Given the description of an element on the screen output the (x, y) to click on. 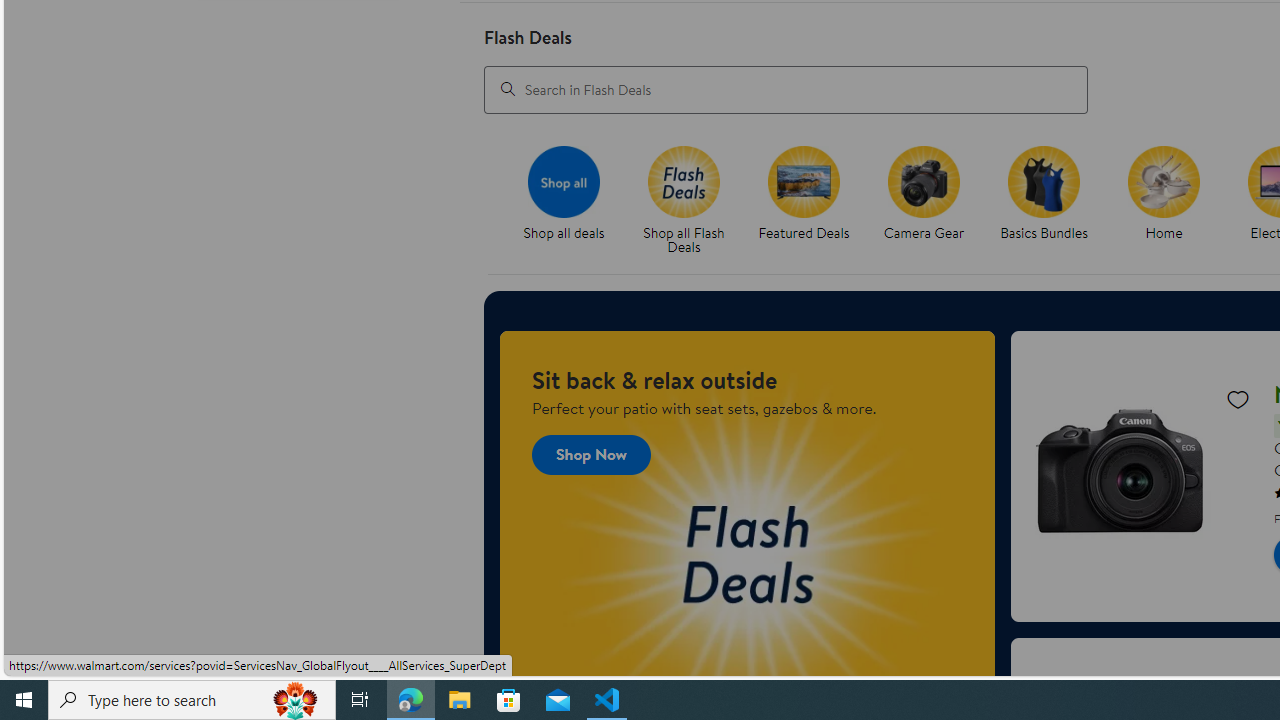
Flash Deals (683, 181)
Shop Now (591, 454)
Camera Gear (924, 181)
Search in Flash Deals (785, 88)
Featured Deals Featured Deals (804, 194)
Camera Gear (931, 200)
Basics Bundles Basics Bundles (1043, 194)
Camera Gear Camera Gear (923, 194)
Shop all deals (572, 200)
Shop all (563, 181)
Basics Bundles (1044, 181)
Home Home (1164, 194)
Shop all Shop all deals (563, 194)
